Given the description of an element on the screen output the (x, y) to click on. 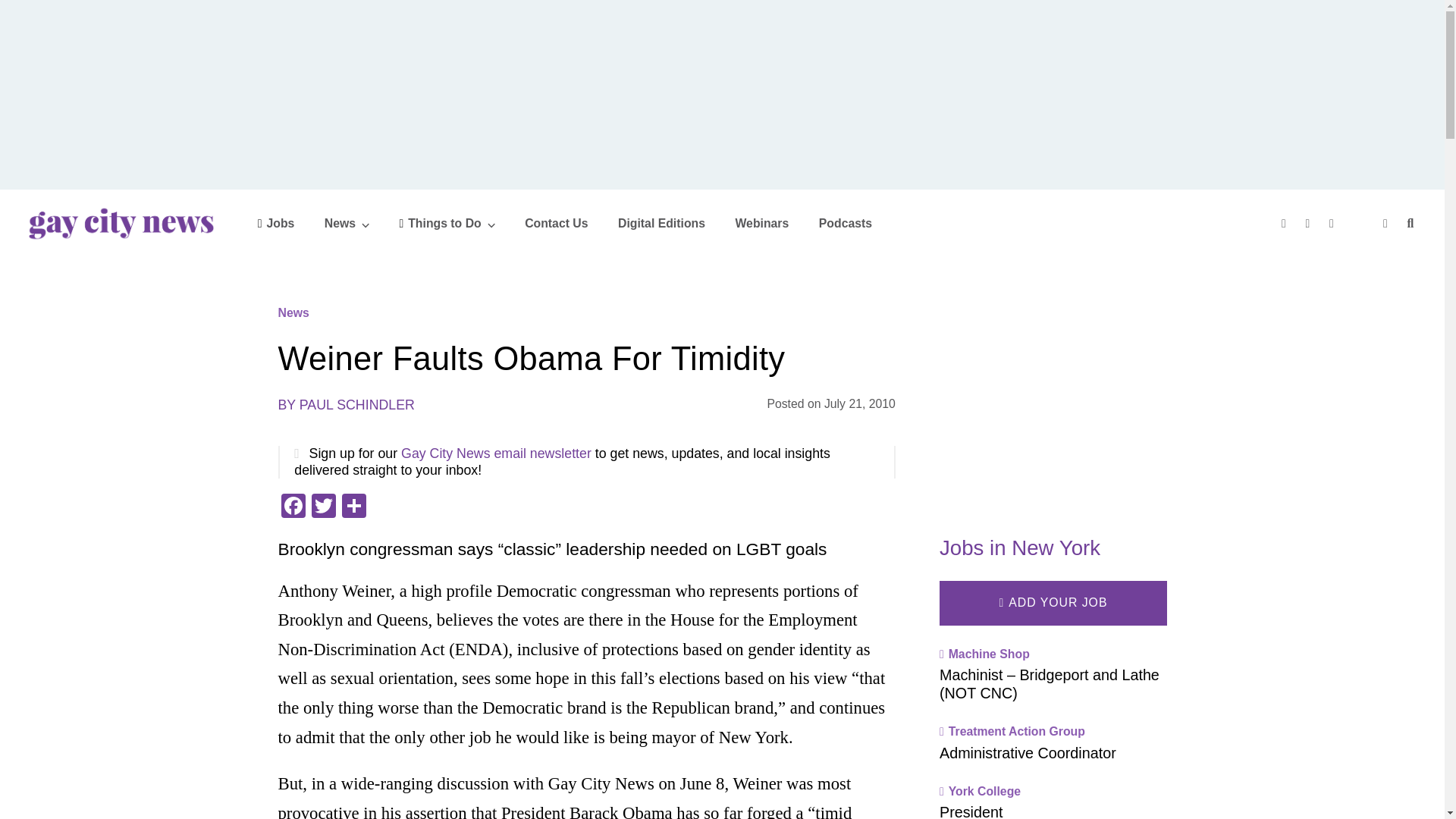
Things to Do (446, 223)
Podcasts (845, 223)
Webinars (762, 223)
Contact Us (556, 223)
Digital Editions (660, 223)
Jobs (276, 223)
Facebook (292, 507)
News (346, 223)
Twitter (322, 507)
